Given the description of an element on the screen output the (x, y) to click on. 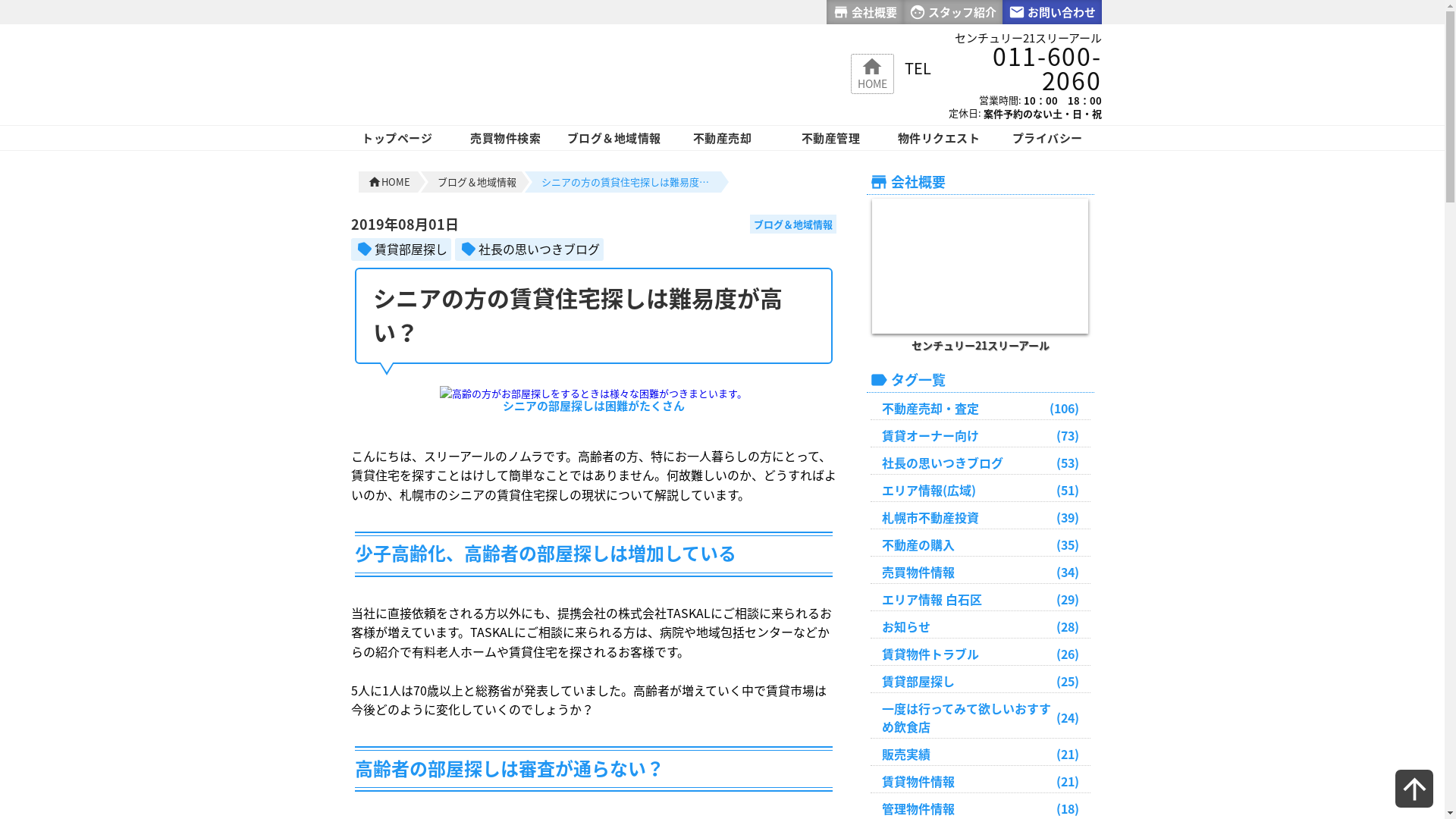
HOME Element type: text (391, 181)
HOME Element type: text (871, 71)
011-600-2060 Element type: text (1016, 67)
